Given the description of an element on the screen output the (x, y) to click on. 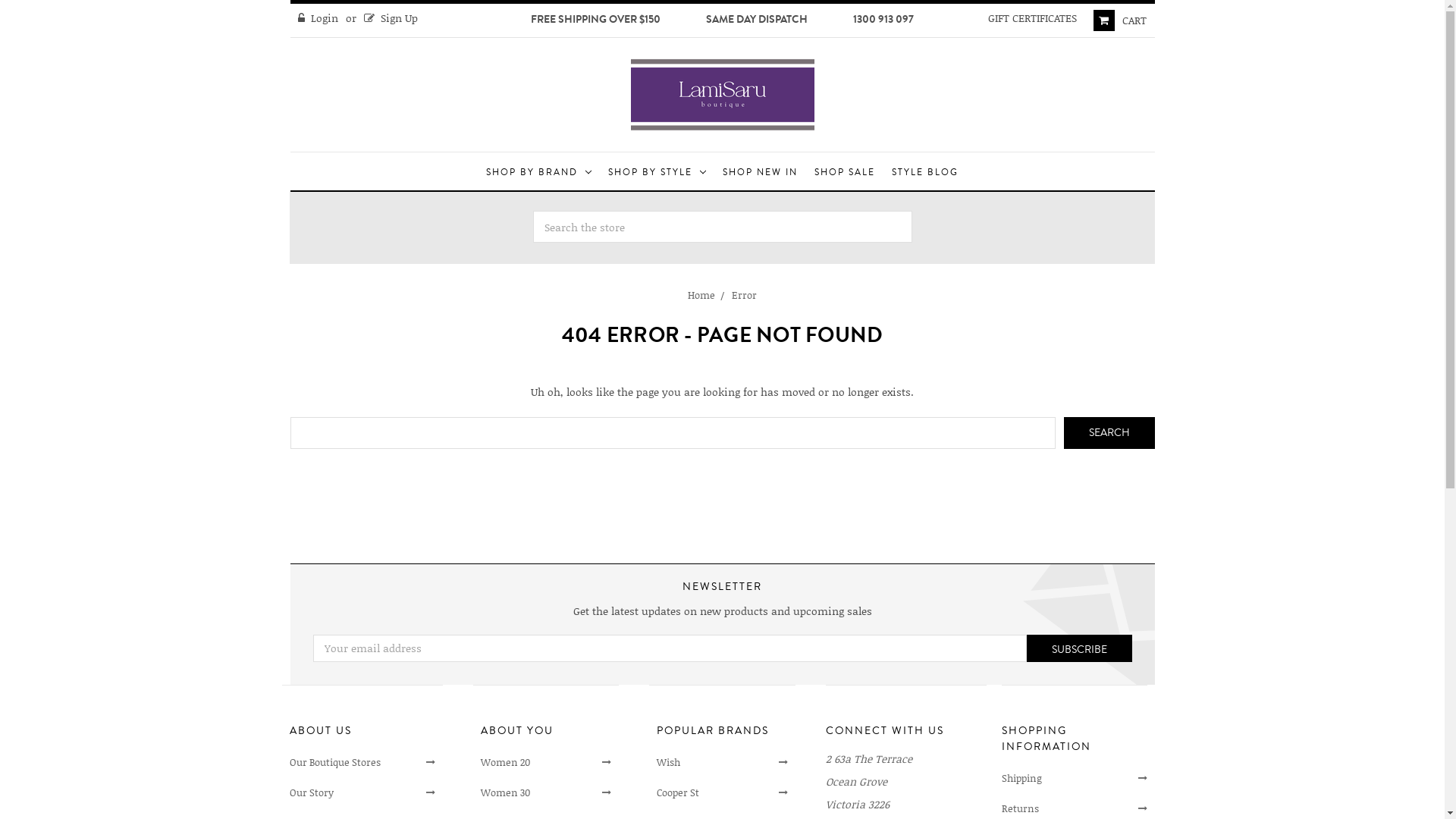
Login Element type: text (317, 17)
Search Element type: text (1108, 432)
STYLE BLOG Element type: text (925, 171)
Our Boutique Stores Element type: text (362, 762)
SAME DAY DISPATCH Element type: text (756, 19)
Women 20 Element type: text (545, 762)
SHOP BY STYLE Element type: text (656, 171)
Wish Element type: text (721, 762)
FREE SHIPPING OVER $150 Element type: text (595, 19)
GIFT CERTIFICATES Element type: text (1032, 17)
SHOP NEW IN Element type: text (760, 171)
Shipping Element type: text (1074, 778)
Subscribe Element type: text (1079, 648)
Women 30 Element type: text (545, 793)
Home Element type: text (701, 294)
Our Story Element type: text (362, 793)
CART Element type: text (1119, 20)
Error Element type: text (743, 294)
Sign Up Element type: text (391, 17)
SHOP SALE Element type: text (844, 171)
Cooper St Element type: text (721, 793)
SHOP BY BRAND Element type: text (538, 171)
